Given the description of an element on the screen output the (x, y) to click on. 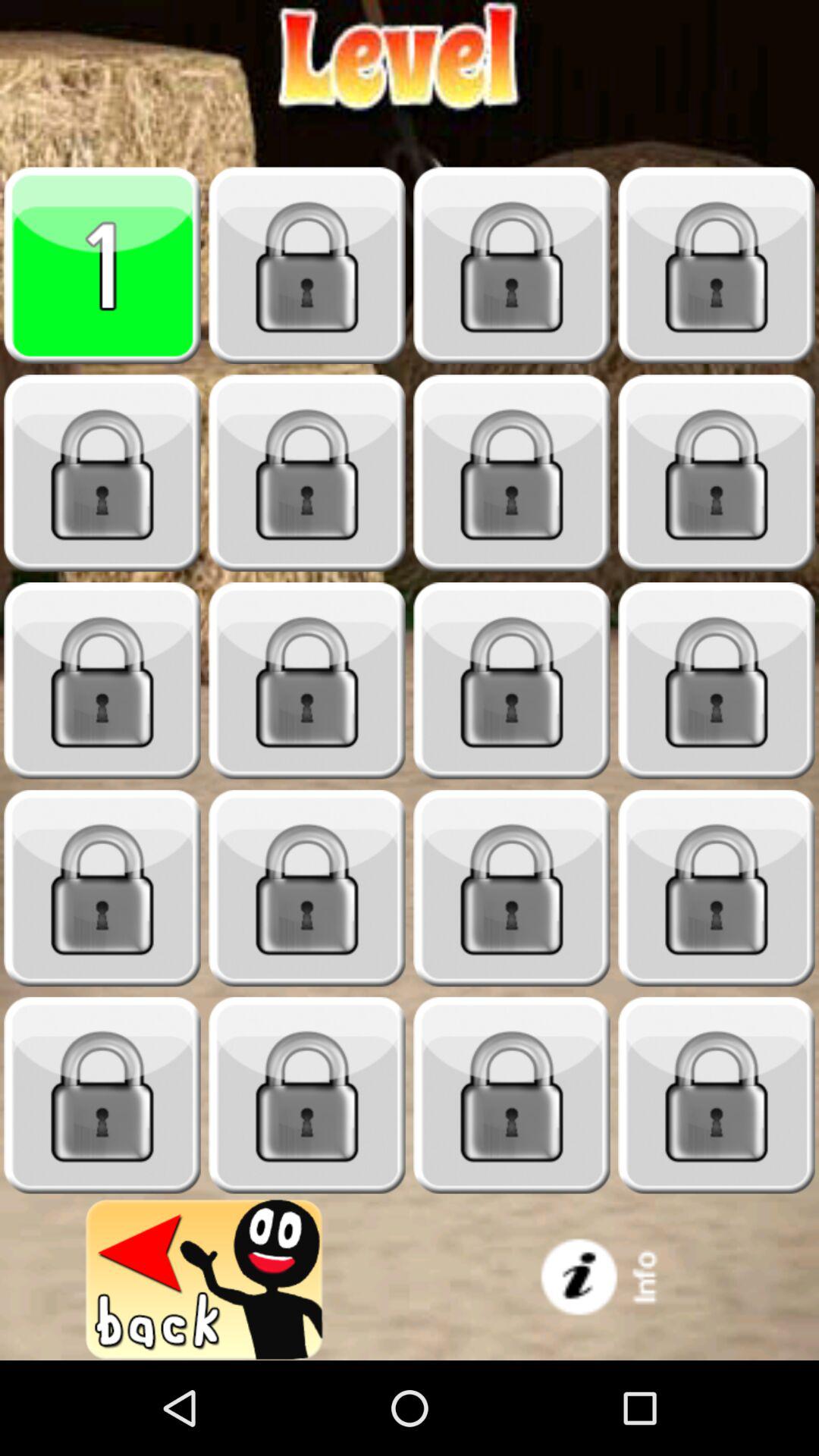
unlock this level (102, 473)
